Given the description of an element on the screen output the (x, y) to click on. 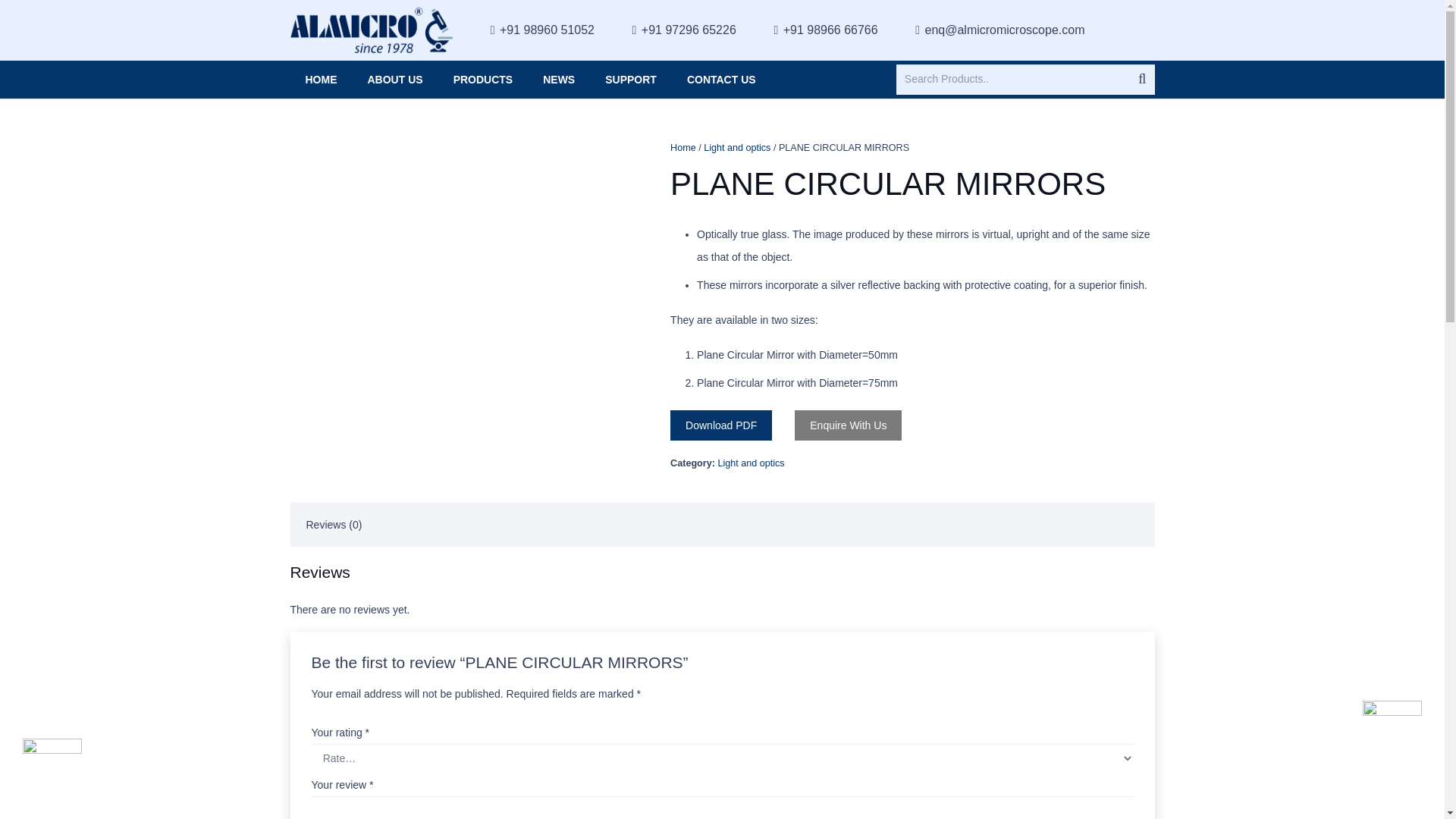
ABOUT US (395, 79)
HOME (320, 79)
PRODUCTS (483, 79)
